Given the description of an element on the screen output the (x, y) to click on. 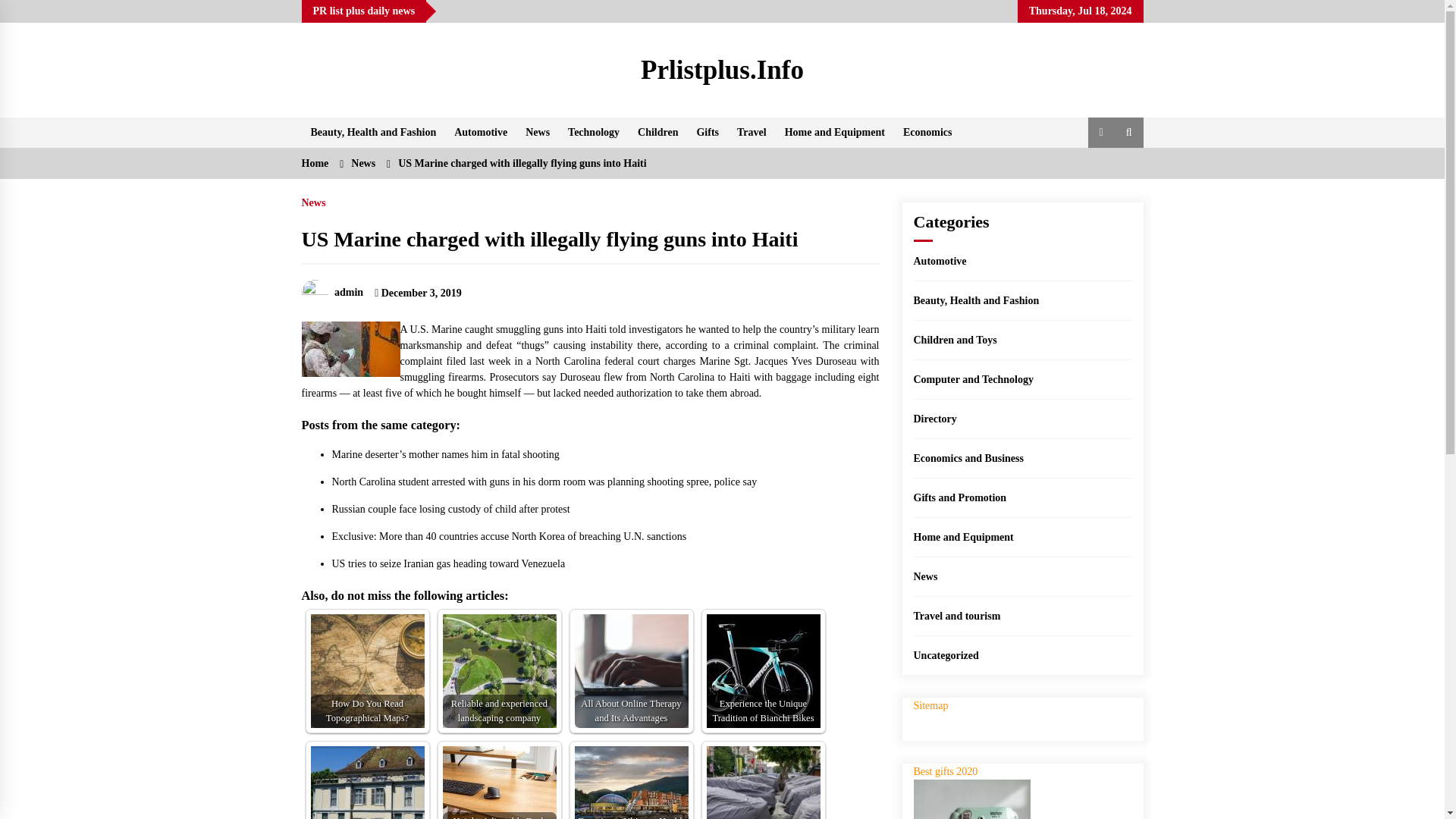
US Marine charged with illegally flying guns into Haiti (350, 348)
How Do You Read Topographical Maps? (368, 671)
News (313, 199)
An Insight Into The Belgium Property Market (368, 782)
Experience the Unique Tradition of Bianchi Bikes (763, 671)
All About Online Therapy and Its Advantages (631, 671)
Home and Equipment (834, 132)
US tries to seize Iranian gas heading toward Venezuela (448, 563)
US tries to seize Iranian gas heading toward Venezuela (448, 563)
Gifts (707, 132)
US Marine charged with illegally flying guns into Haiti (521, 163)
Beauty, Health and Fashion (975, 300)
Travel (752, 132)
